Given the description of an element on the screen output the (x, y) to click on. 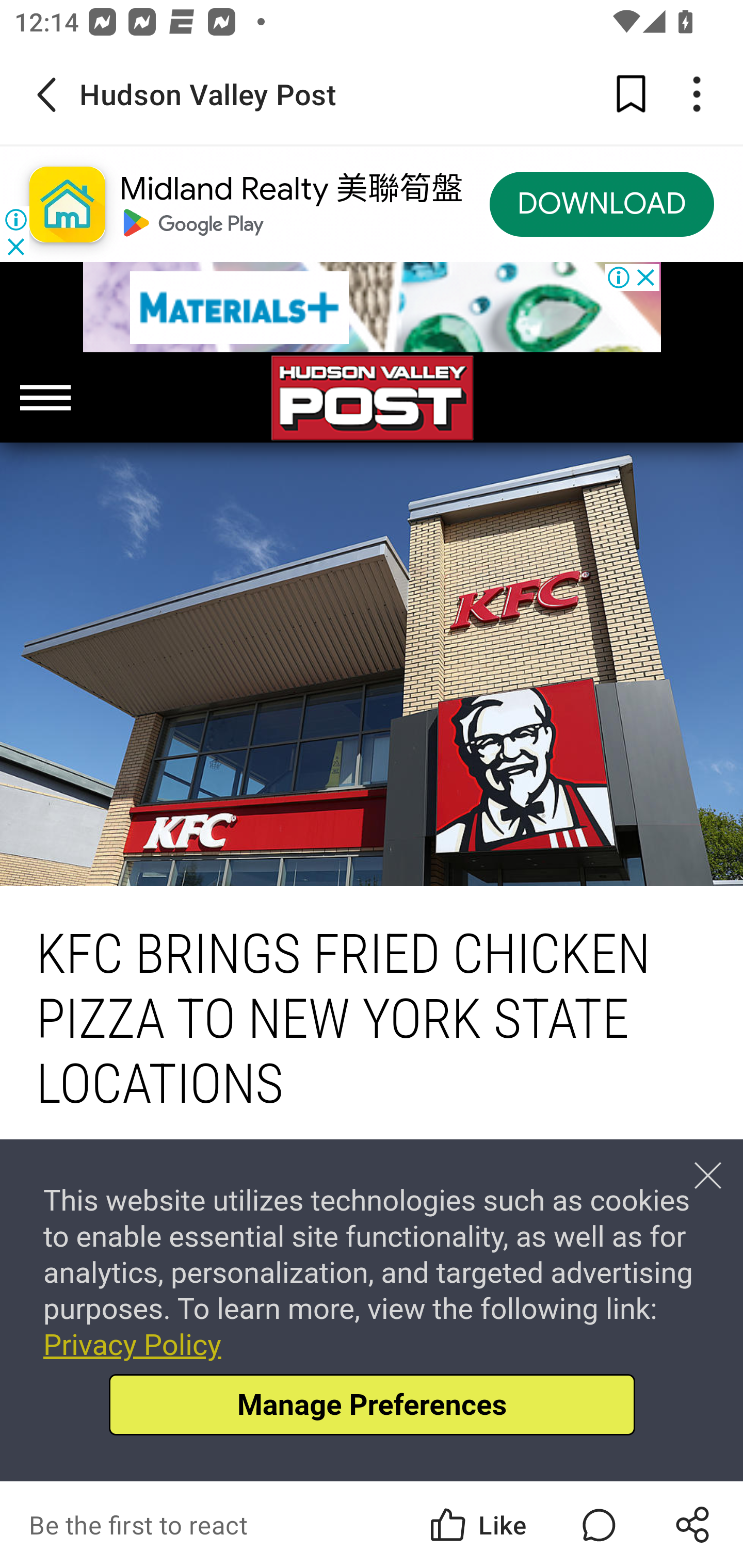
Midland Realty 美聯筍盤 (290, 188)
DOWNLOAD (601, 205)
Hudson Valley Post (371, 397)
Close this dialog (708, 1175)
Privacy Policy (132, 1344)
Manage Preferences (372, 1403)
Be the first to react (244, 1524)
Like (476, 1524)
